Given the description of an element on the screen output the (x, y) to click on. 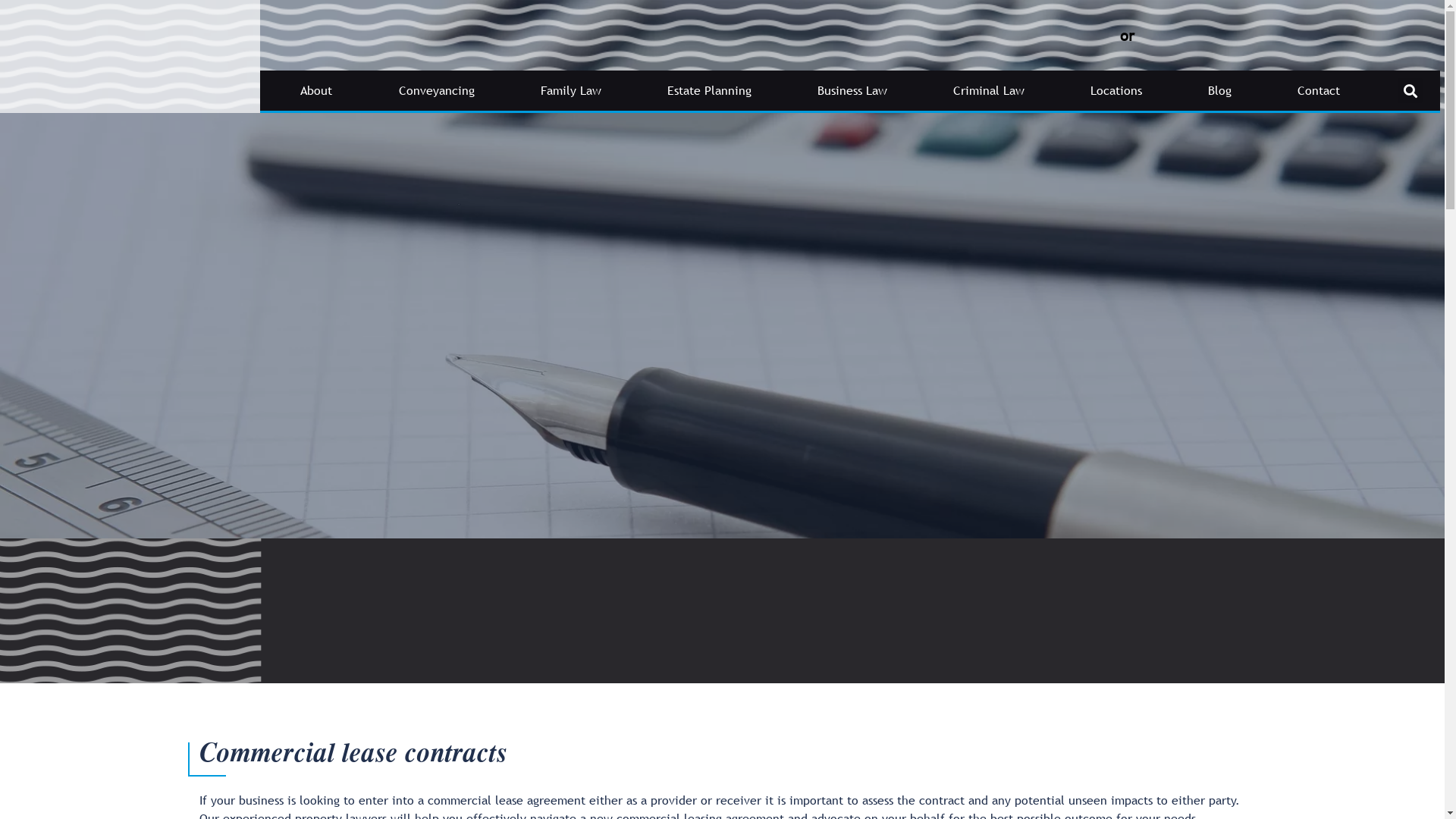
Criminal Law Element type: text (988, 89)
Conveyancing Element type: text (436, 89)
Business Law Element type: text (851, 89)
About Element type: text (316, 89)
Blog Element type: text (1219, 89)
Estate Planning Element type: text (708, 89)
Locations Element type: text (1115, 89)
Family Law Element type: text (570, 89)
Contact Element type: text (1318, 89)
